Given the description of an element on the screen output the (x, y) to click on. 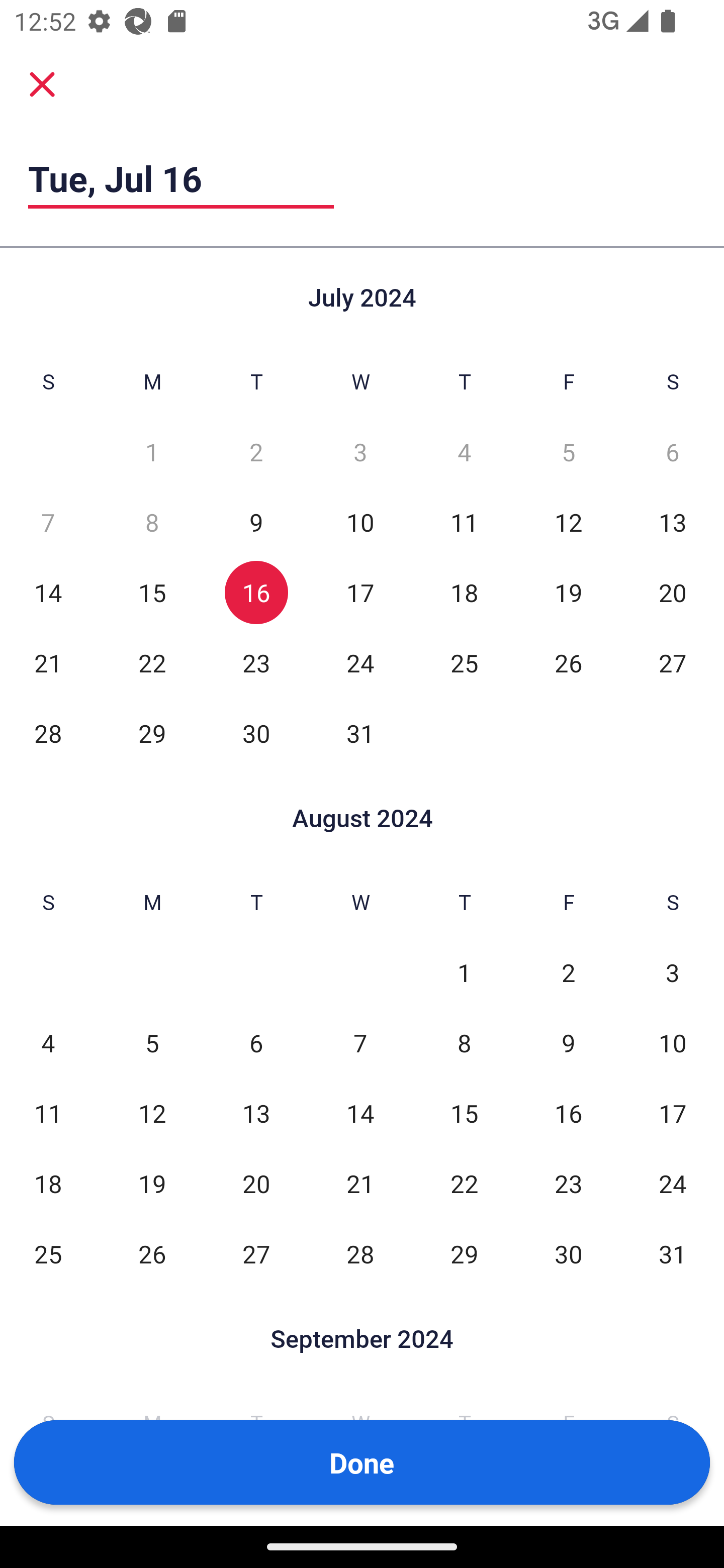
Cancel (42, 84)
Tue, Jul 16 (180, 178)
1 Mon, Jul 1, Not Selected (152, 452)
2 Tue, Jul 2, Not Selected (256, 452)
3 Wed, Jul 3, Not Selected (360, 452)
4 Thu, Jul 4, Not Selected (464, 452)
5 Fri, Jul 5, Not Selected (568, 452)
6 Sat, Jul 6, Not Selected (672, 452)
7 Sun, Jul 7, Not Selected (48, 521)
8 Mon, Jul 8, Not Selected (152, 521)
9 Tue, Jul 9, Not Selected (256, 521)
10 Wed, Jul 10, Not Selected (360, 521)
11 Thu, Jul 11, Not Selected (464, 521)
12 Fri, Jul 12, Not Selected (568, 521)
13 Sat, Jul 13, Not Selected (672, 521)
14 Sun, Jul 14, Not Selected (48, 591)
15 Mon, Jul 15, Not Selected (152, 591)
16 Tue, Jul 16, Selected (256, 591)
17 Wed, Jul 17, Not Selected (360, 591)
18 Thu, Jul 18, Not Selected (464, 591)
19 Fri, Jul 19, Not Selected (568, 591)
20 Sat, Jul 20, Not Selected (672, 591)
21 Sun, Jul 21, Not Selected (48, 662)
22 Mon, Jul 22, Not Selected (152, 662)
23 Tue, Jul 23, Not Selected (256, 662)
24 Wed, Jul 24, Not Selected (360, 662)
25 Thu, Jul 25, Not Selected (464, 662)
26 Fri, Jul 26, Not Selected (568, 662)
27 Sat, Jul 27, Not Selected (672, 662)
28 Sun, Jul 28, Not Selected (48, 732)
29 Mon, Jul 29, Not Selected (152, 732)
30 Tue, Jul 30, Not Selected (256, 732)
31 Wed, Jul 31, Not Selected (360, 732)
1 Thu, Aug 1, Not Selected (464, 972)
2 Fri, Aug 2, Not Selected (568, 972)
3 Sat, Aug 3, Not Selected (672, 972)
4 Sun, Aug 4, Not Selected (48, 1043)
5 Mon, Aug 5, Not Selected (152, 1043)
6 Tue, Aug 6, Not Selected (256, 1043)
7 Wed, Aug 7, Not Selected (360, 1043)
8 Thu, Aug 8, Not Selected (464, 1043)
9 Fri, Aug 9, Not Selected (568, 1043)
10 Sat, Aug 10, Not Selected (672, 1043)
11 Sun, Aug 11, Not Selected (48, 1112)
12 Mon, Aug 12, Not Selected (152, 1112)
13 Tue, Aug 13, Not Selected (256, 1112)
14 Wed, Aug 14, Not Selected (360, 1112)
15 Thu, Aug 15, Not Selected (464, 1112)
16 Fri, Aug 16, Not Selected (568, 1112)
17 Sat, Aug 17, Not Selected (672, 1112)
18 Sun, Aug 18, Not Selected (48, 1182)
19 Mon, Aug 19, Not Selected (152, 1182)
20 Tue, Aug 20, Not Selected (256, 1182)
21 Wed, Aug 21, Not Selected (360, 1182)
22 Thu, Aug 22, Not Selected (464, 1182)
23 Fri, Aug 23, Not Selected (568, 1182)
24 Sat, Aug 24, Not Selected (672, 1182)
25 Sun, Aug 25, Not Selected (48, 1253)
26 Mon, Aug 26, Not Selected (152, 1253)
27 Tue, Aug 27, Not Selected (256, 1253)
28 Wed, Aug 28, Not Selected (360, 1253)
29 Thu, Aug 29, Not Selected (464, 1253)
30 Fri, Aug 30, Not Selected (568, 1253)
31 Sat, Aug 31, Not Selected (672, 1253)
Done Button Done (361, 1462)
